Given the description of an element on the screen output the (x, y) to click on. 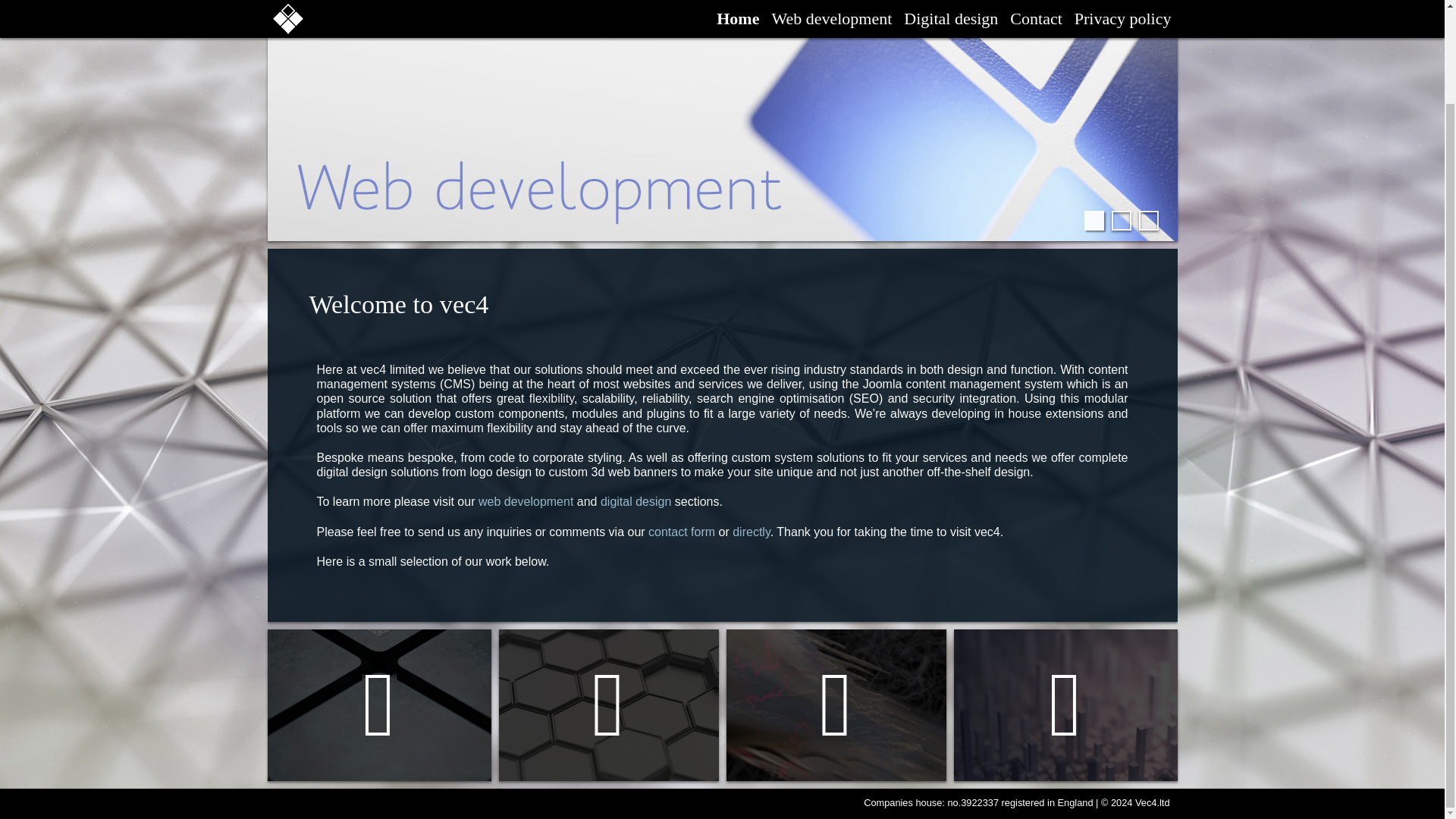
directly (751, 530)
2 (1121, 220)
3 (1148, 220)
contact form (680, 530)
Contact (1065, 705)
digital design (635, 501)
1 (1093, 220)
Home (378, 705)
Web development (609, 705)
web development (526, 501)
Digital design (836, 705)
